Given the description of an element on the screen output the (x, y) to click on. 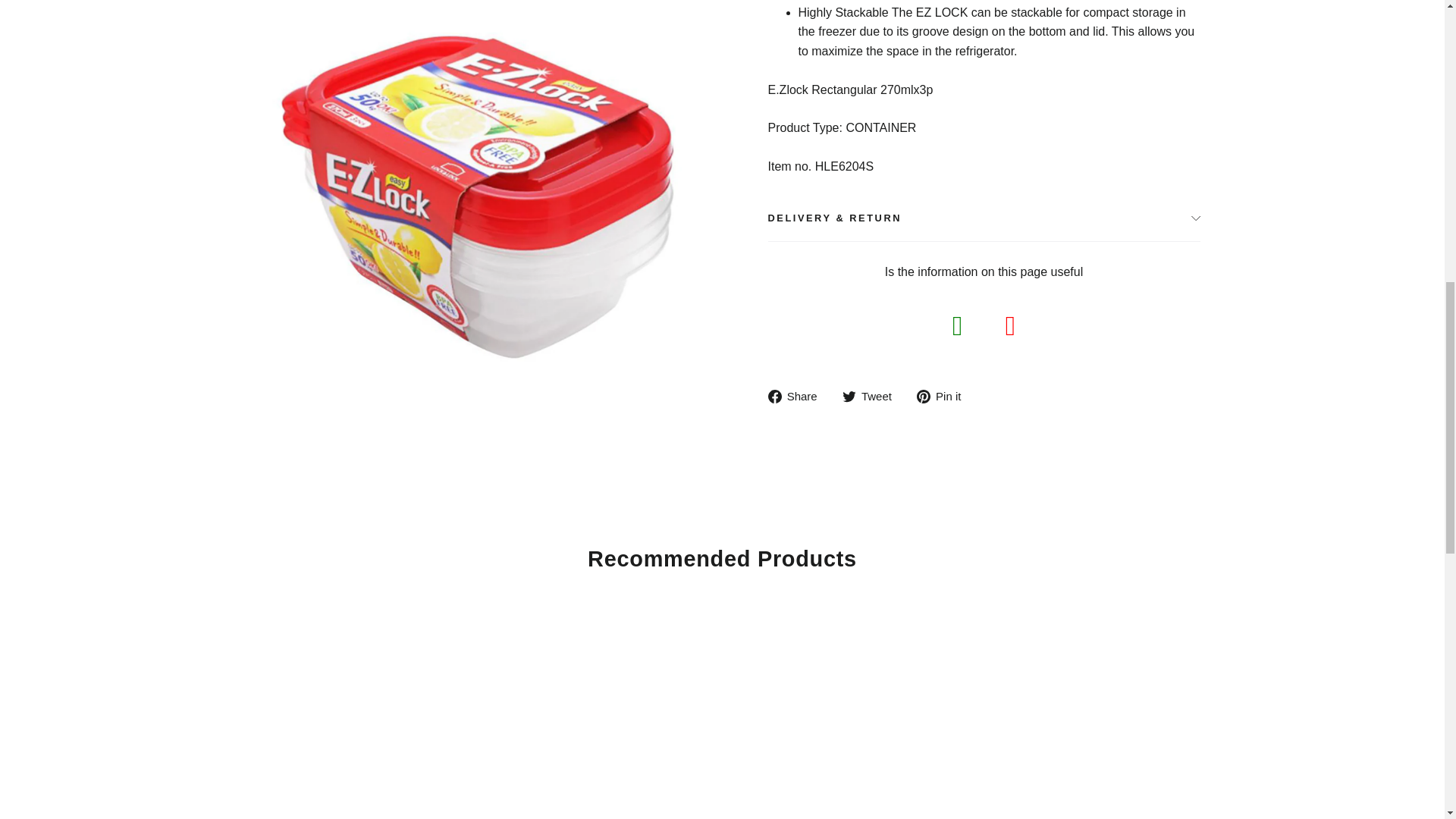
Pin on Pinterest (944, 395)
twitter (849, 396)
Tweet on Twitter (872, 395)
Share on Facebook (797, 395)
